Given the description of an element on the screen output the (x, y) to click on. 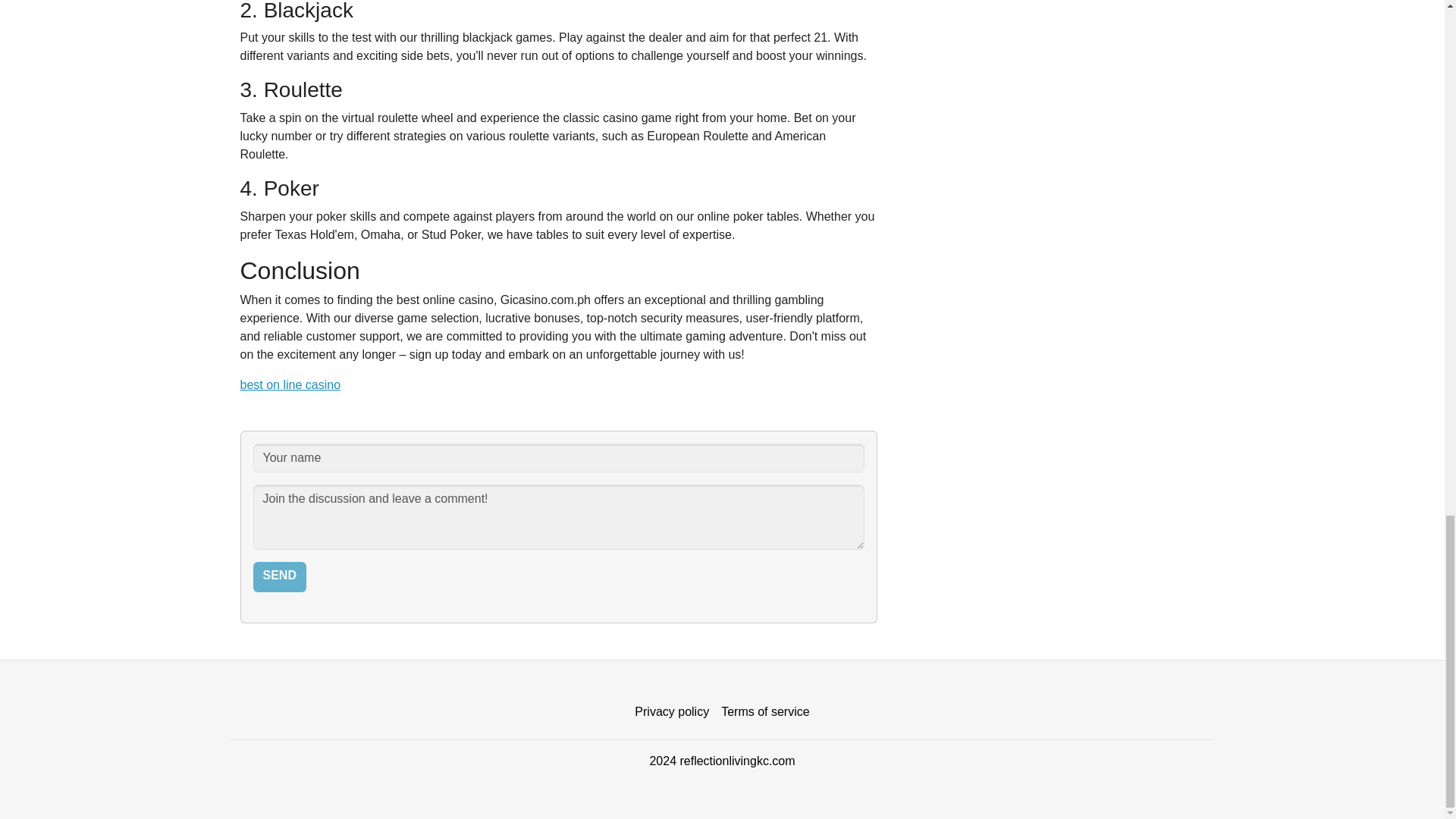
Send (279, 576)
Privacy policy (671, 711)
Terms of service (764, 711)
best on line casino (290, 384)
Send (279, 576)
